Given the description of an element on the screen output the (x, y) to click on. 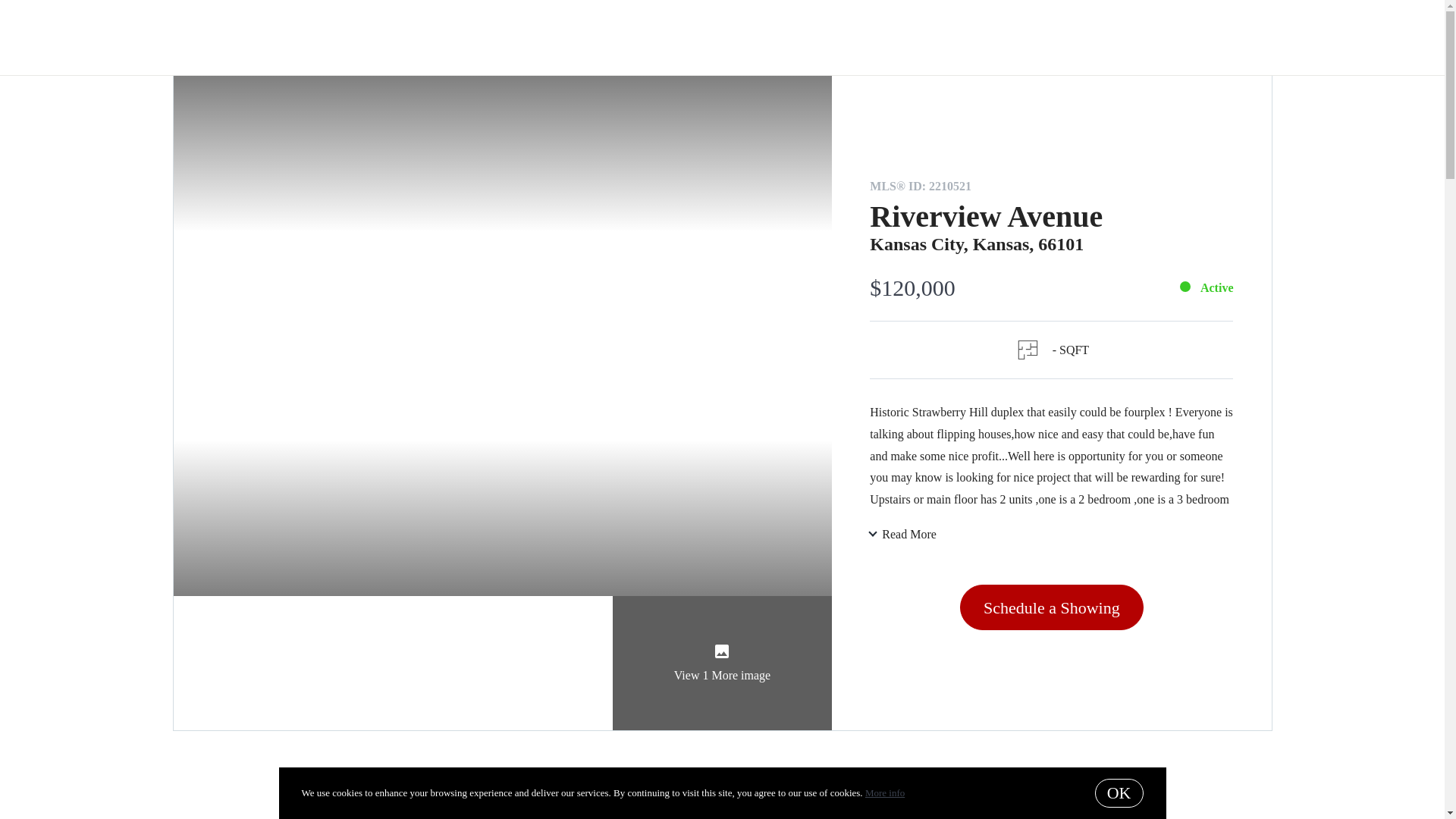
OK (1118, 792)
Schedule a Showing (1050, 606)
More info (884, 792)
View 1 More image (722, 663)
